Given the description of an element on the screen output the (x, y) to click on. 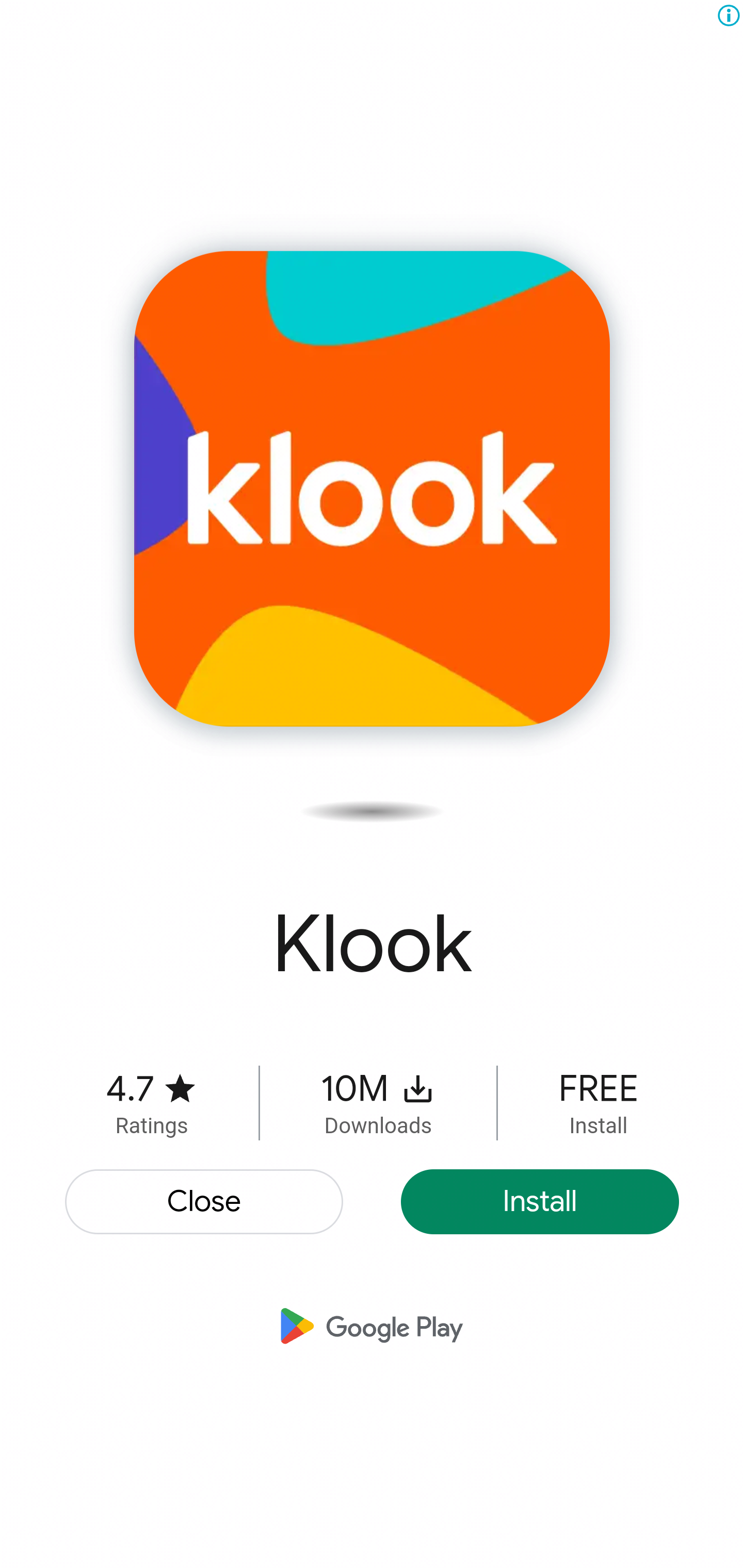
Close (204, 1201)
Install (539, 1201)
